Given the description of an element on the screen output the (x, y) to click on. 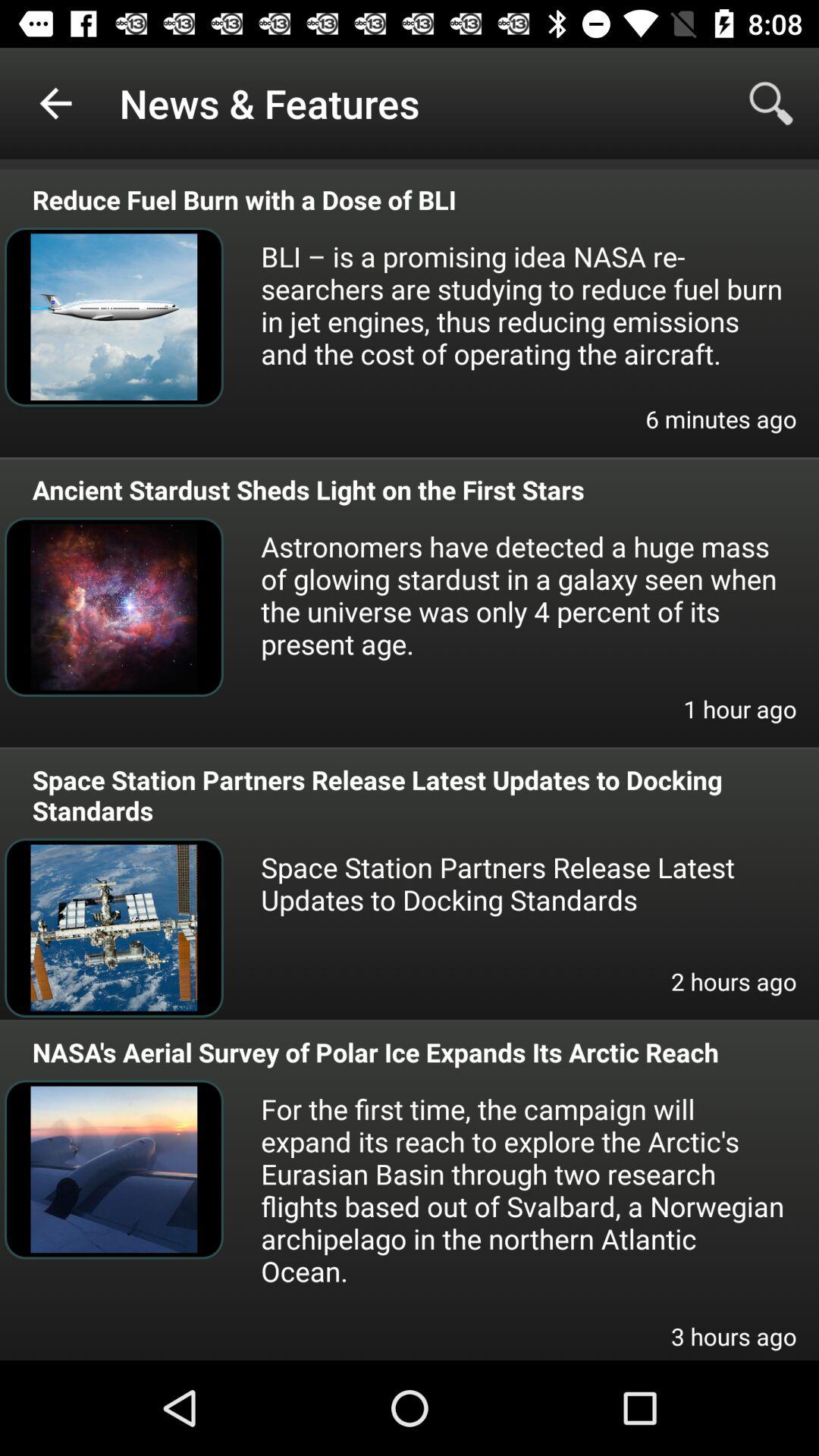
select the item below astronomers have detected item (739, 718)
